Given the description of an element on the screen output the (x, y) to click on. 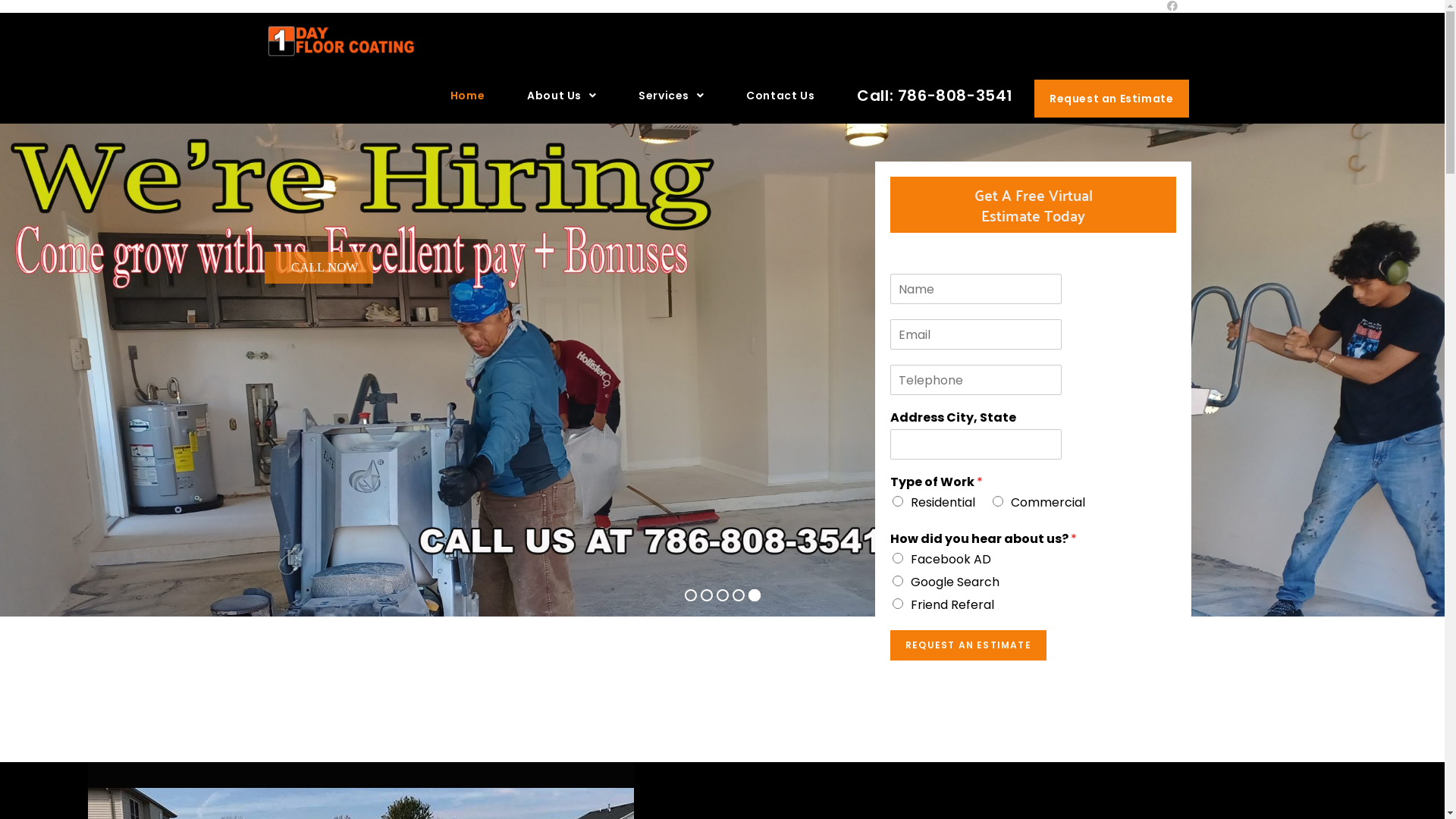
Call: 786-808-3541 Element type: text (934, 95)
Home Element type: text (467, 95)
Request an Estimate Element type: text (1111, 98)
About Us Element type: text (561, 95)
REQUEST AN ESTIMATE Element type: text (968, 645)
Contact Us Element type: text (779, 95)
Services Element type: text (670, 95)
